Given the description of an element on the screen output the (x, y) to click on. 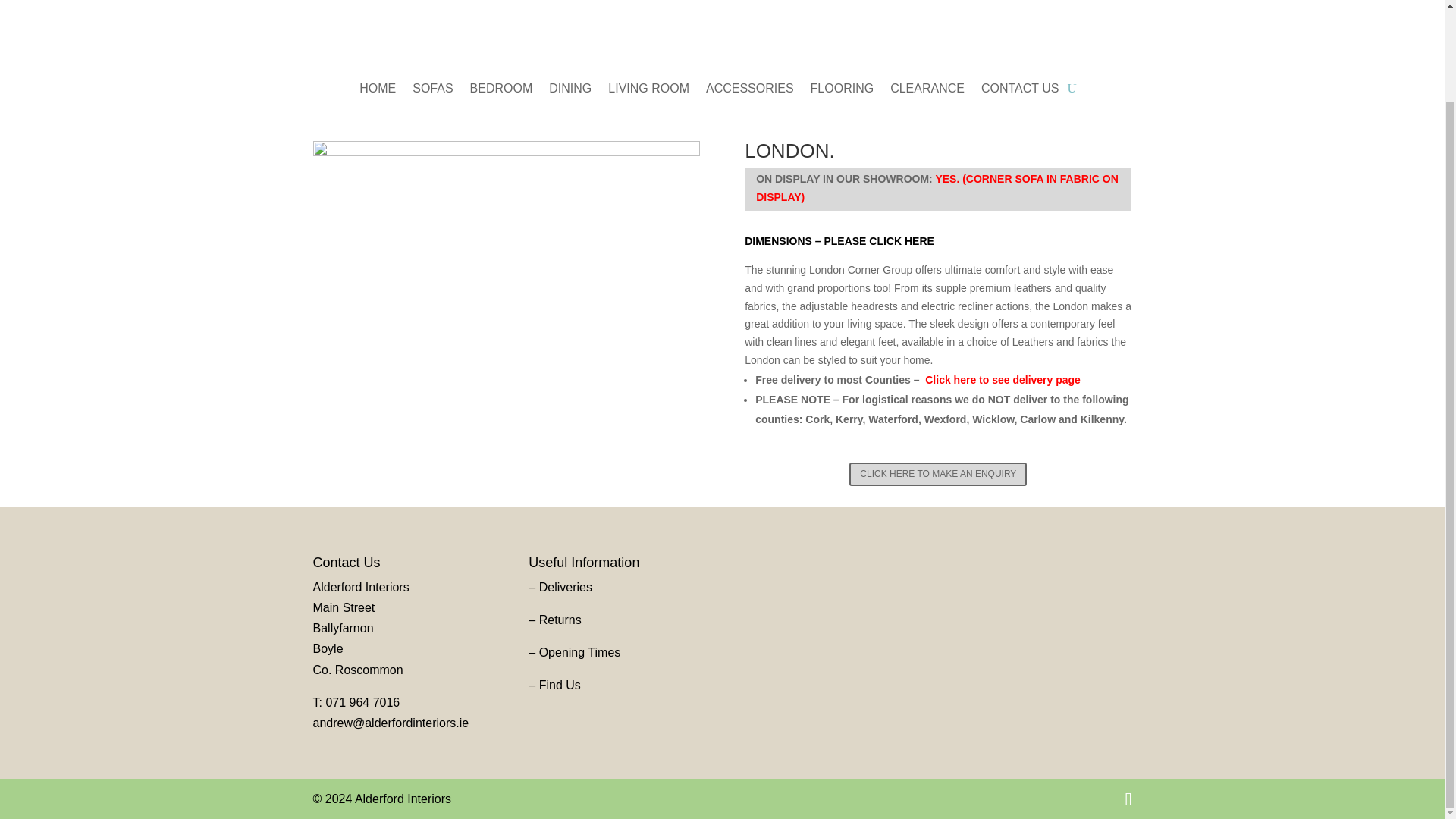
Find Us (559, 684)
BEDROOM (501, 91)
CLEARANCE (926, 91)
Returns (559, 619)
Deliveries (565, 586)
CONTACT US (1020, 91)
DINING (569, 91)
ACCESSORIES (749, 91)
LIVING ROOM (648, 91)
SOFAS (432, 91)
